Given the description of an element on the screen output the (x, y) to click on. 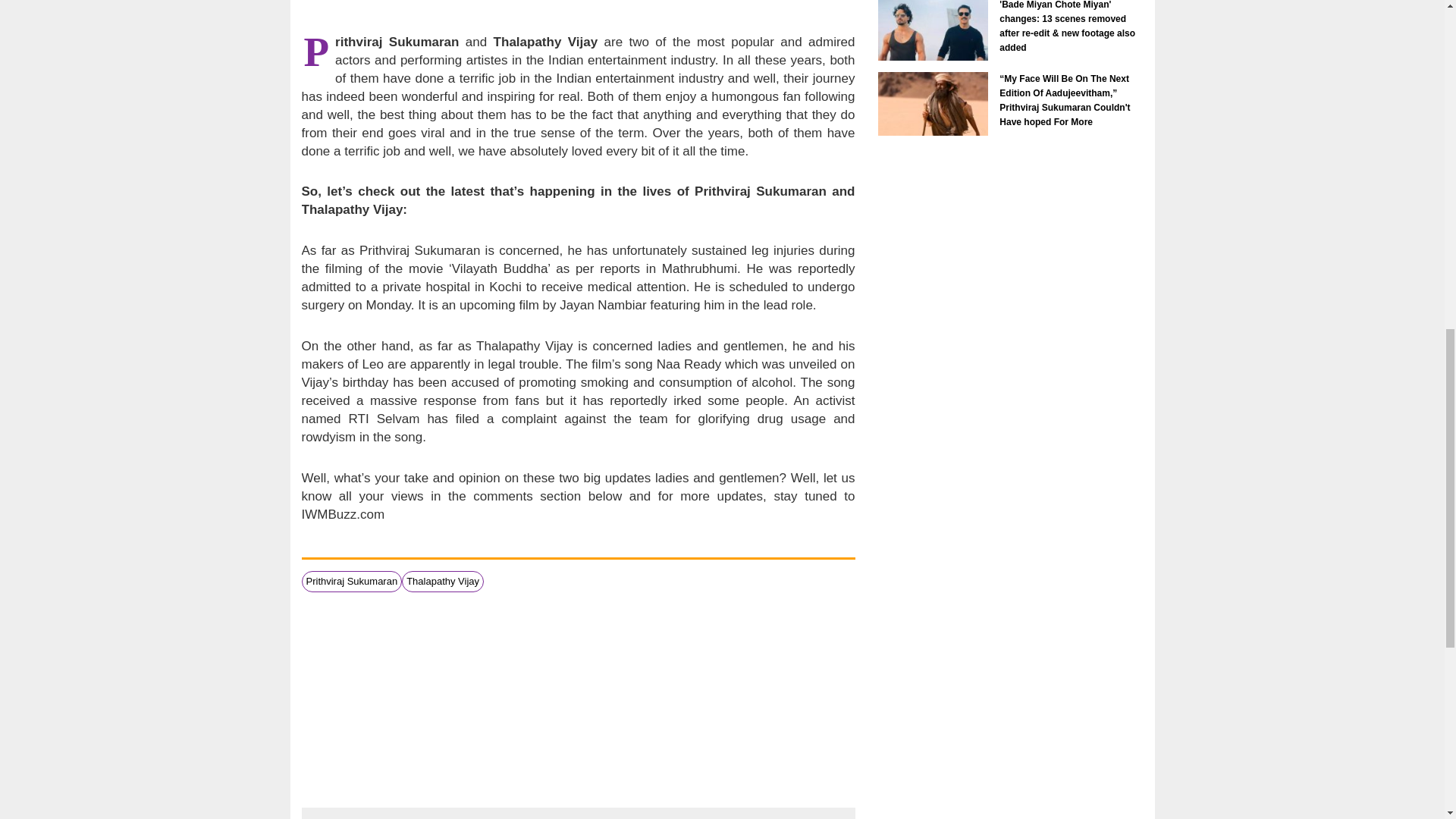
3rd party ad content (577, 698)
Prithviraj Sukumaran (351, 581)
Thalapathy Vijay (442, 581)
3rd party ad content (577, 9)
